Given the description of an element on the screen output the (x, y) to click on. 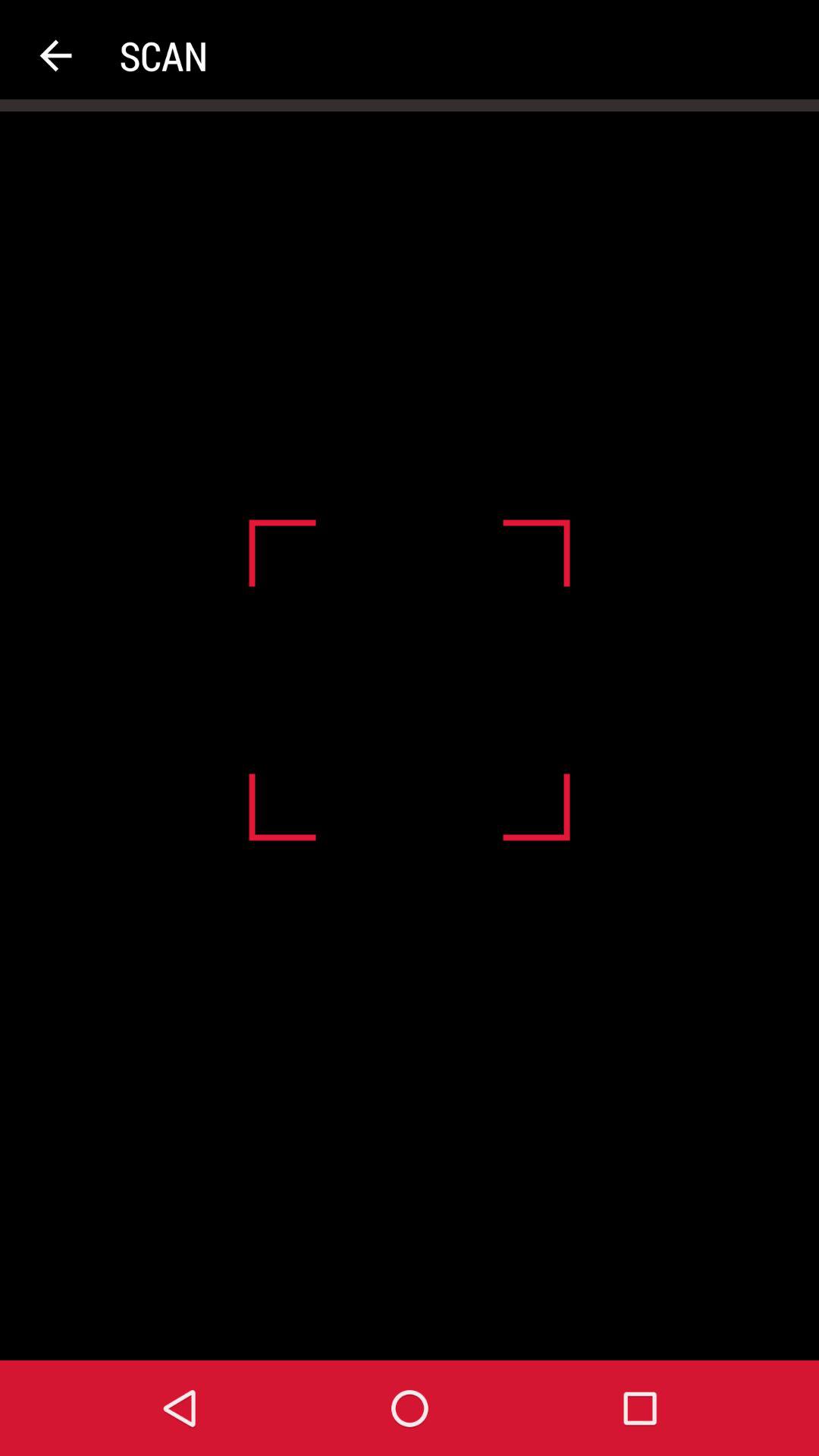
launch app to the left of scan (55, 55)
